Given the description of an element on the screen output the (x, y) to click on. 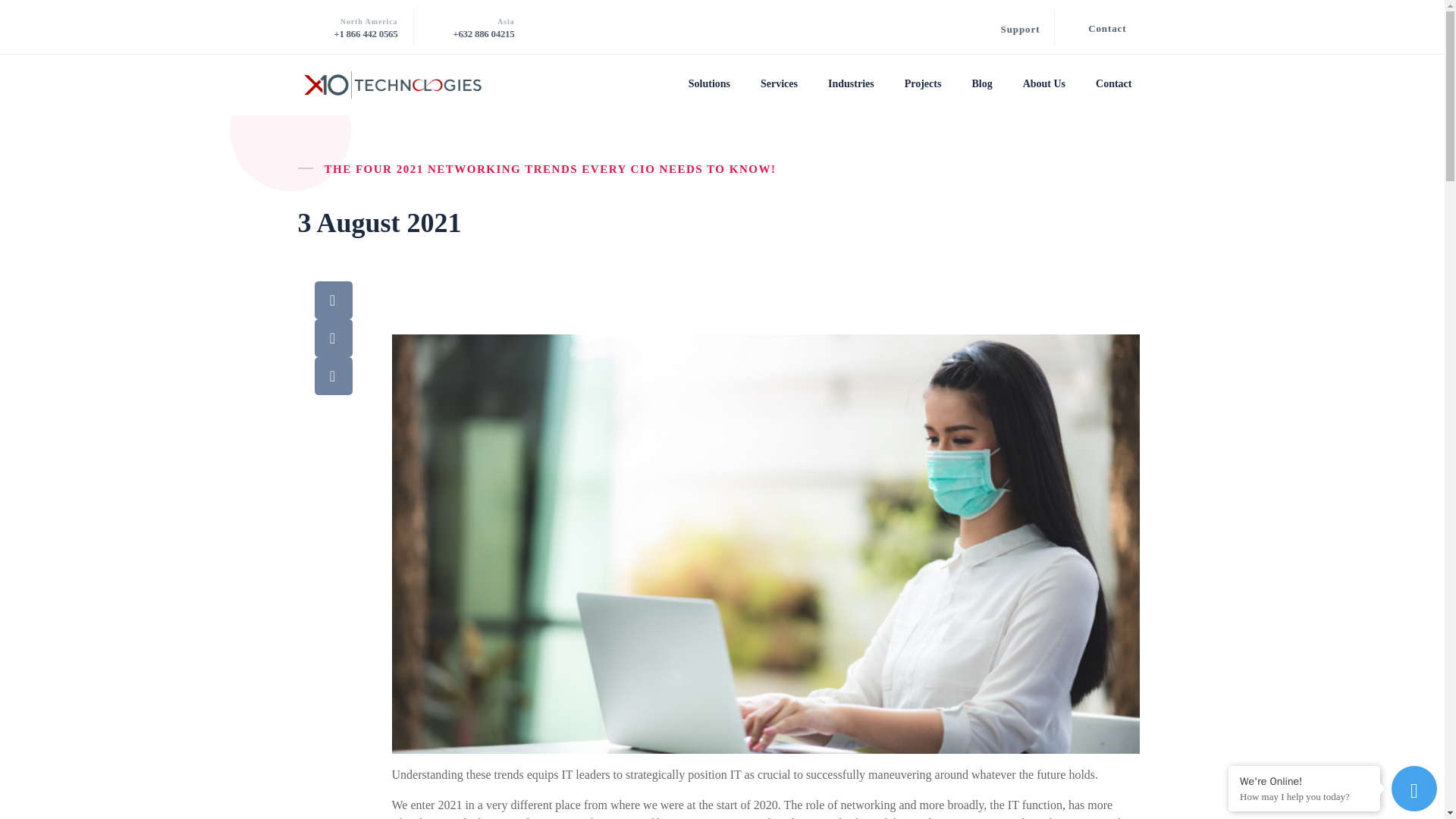
Contact (1113, 84)
Support (1021, 28)
Contact (1106, 28)
Projects (922, 84)
Solutions (708, 84)
Industries (850, 84)
Blog (981, 84)
Services (778, 84)
About Us (1043, 84)
We're Online! (1304, 781)
